Given the description of an element on the screen output the (x, y) to click on. 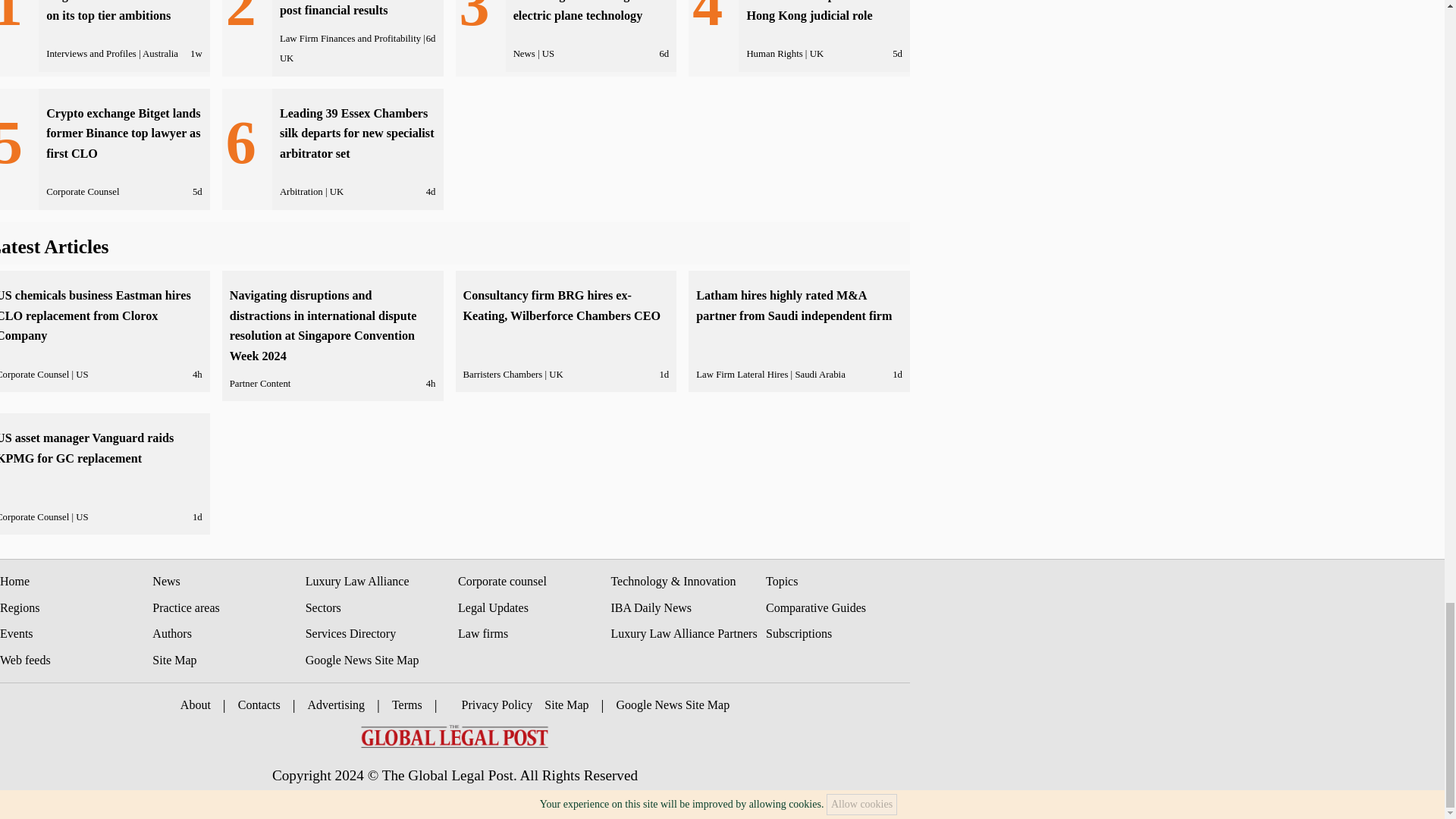
Law Firm Finances and Profitability (349, 38)
Australia (159, 53)
Interviews and Profiles (91, 53)
